Given the description of an element on the screen output the (x, y) to click on. 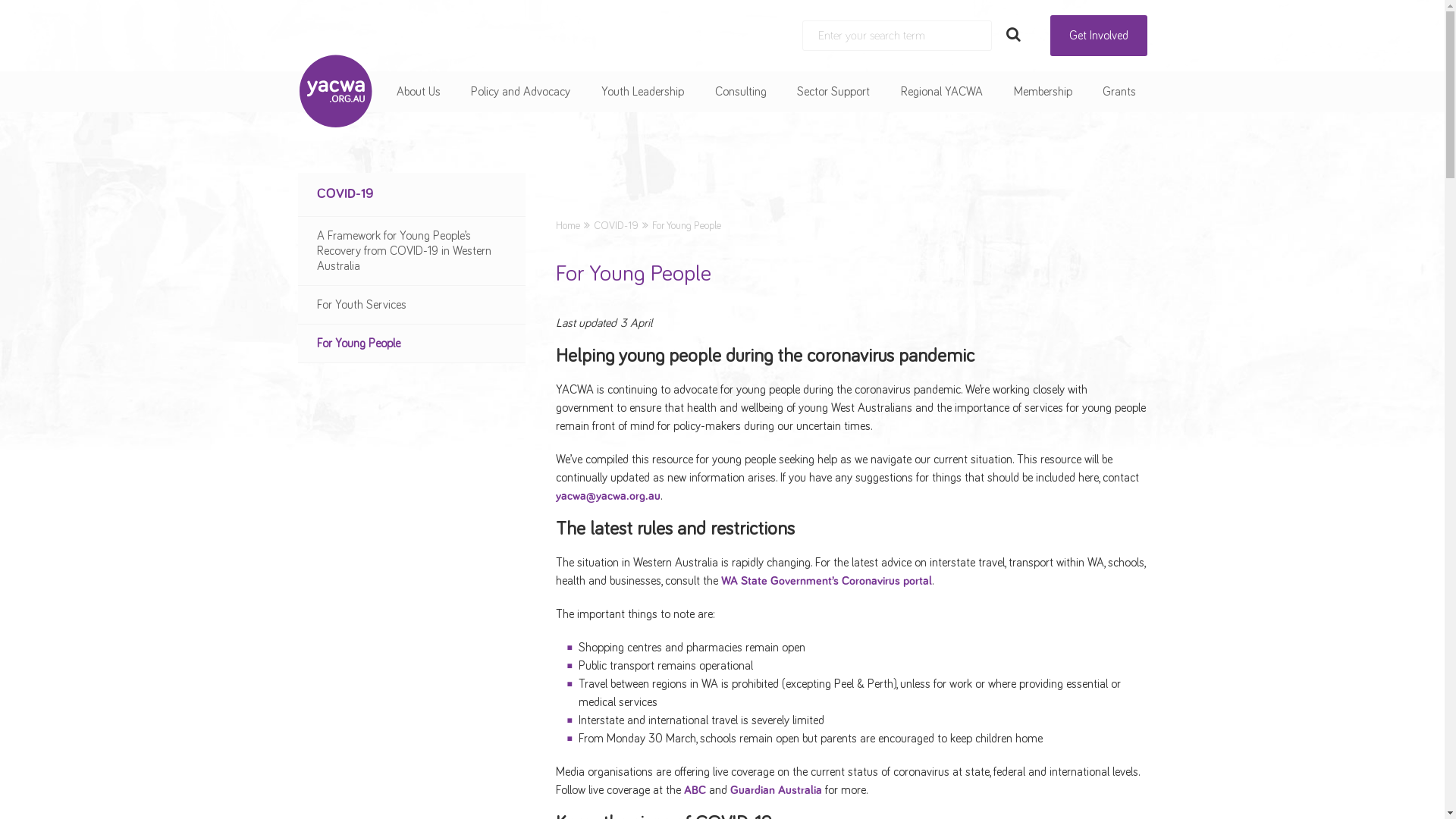
COVID-19 Element type: text (410, 194)
For Youth Services Element type: text (410, 304)
yacwa@yacwa.org.au Element type: text (607, 495)
Grants Element type: text (1119, 91)
Get Involved Element type: text (1097, 35)
COVID-19 Element type: text (615, 225)
ABC Element type: text (695, 790)
Home Element type: text (567, 225)
Policy and Advocacy Element type: text (520, 91)
Membership Element type: text (1042, 91)
Consulting Element type: text (740, 91)
Sector Support Element type: text (833, 91)
Regional YACWA Element type: text (941, 91)
About Us Element type: text (418, 91)
Search: Element type: hover (896, 35)
For Young People Element type: text (410, 343)
Guardian Australia Element type: text (775, 790)
Youth Leadership Element type: text (642, 91)
